Given the description of an element on the screen output the (x, y) to click on. 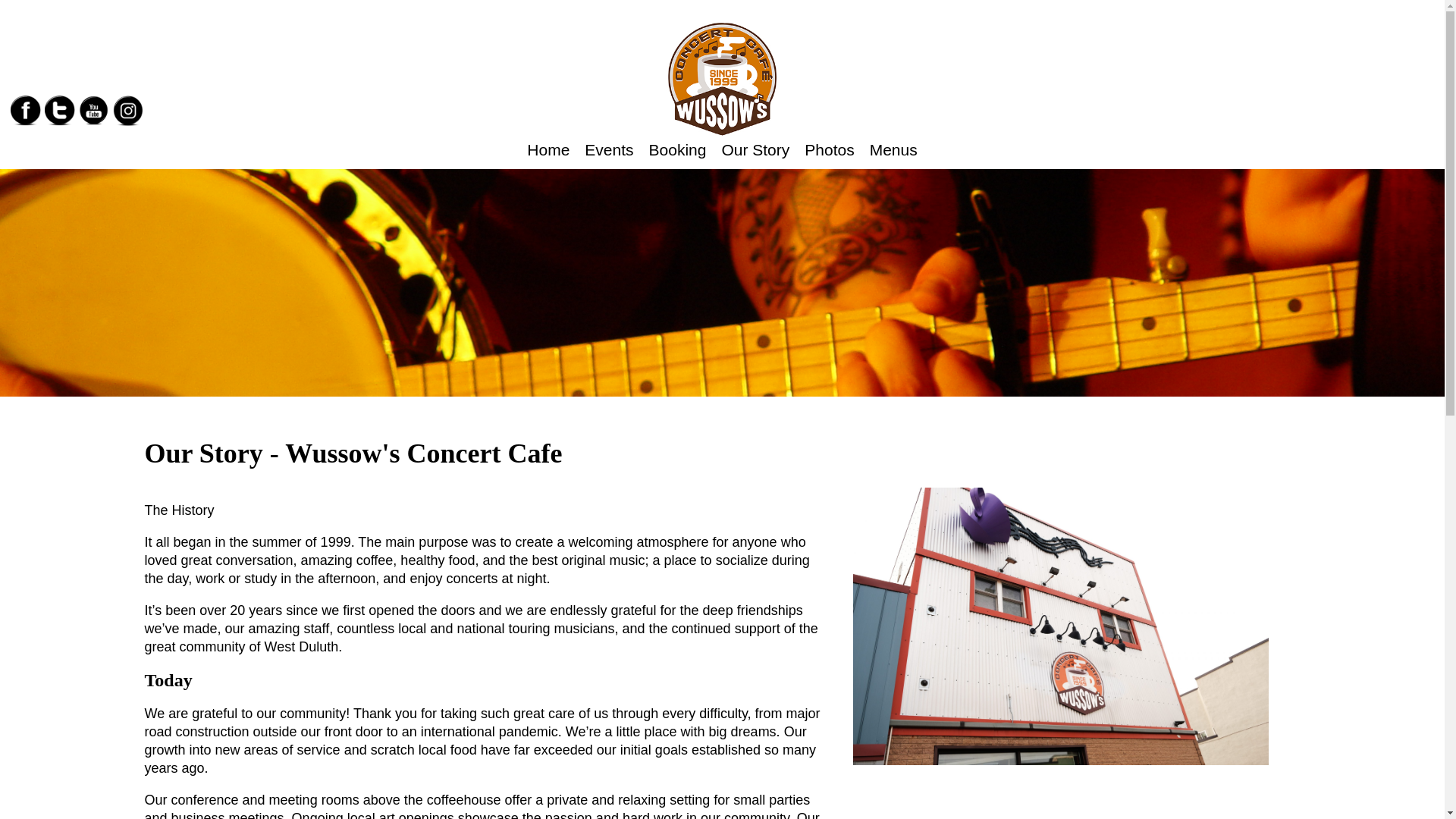
Home (547, 150)
Menus (892, 150)
Facebook (25, 110)
Booking (678, 150)
Events (608, 150)
Twitter (60, 110)
Photos (828, 150)
Our Story (754, 150)
